Given the description of an element on the screen output the (x, y) to click on. 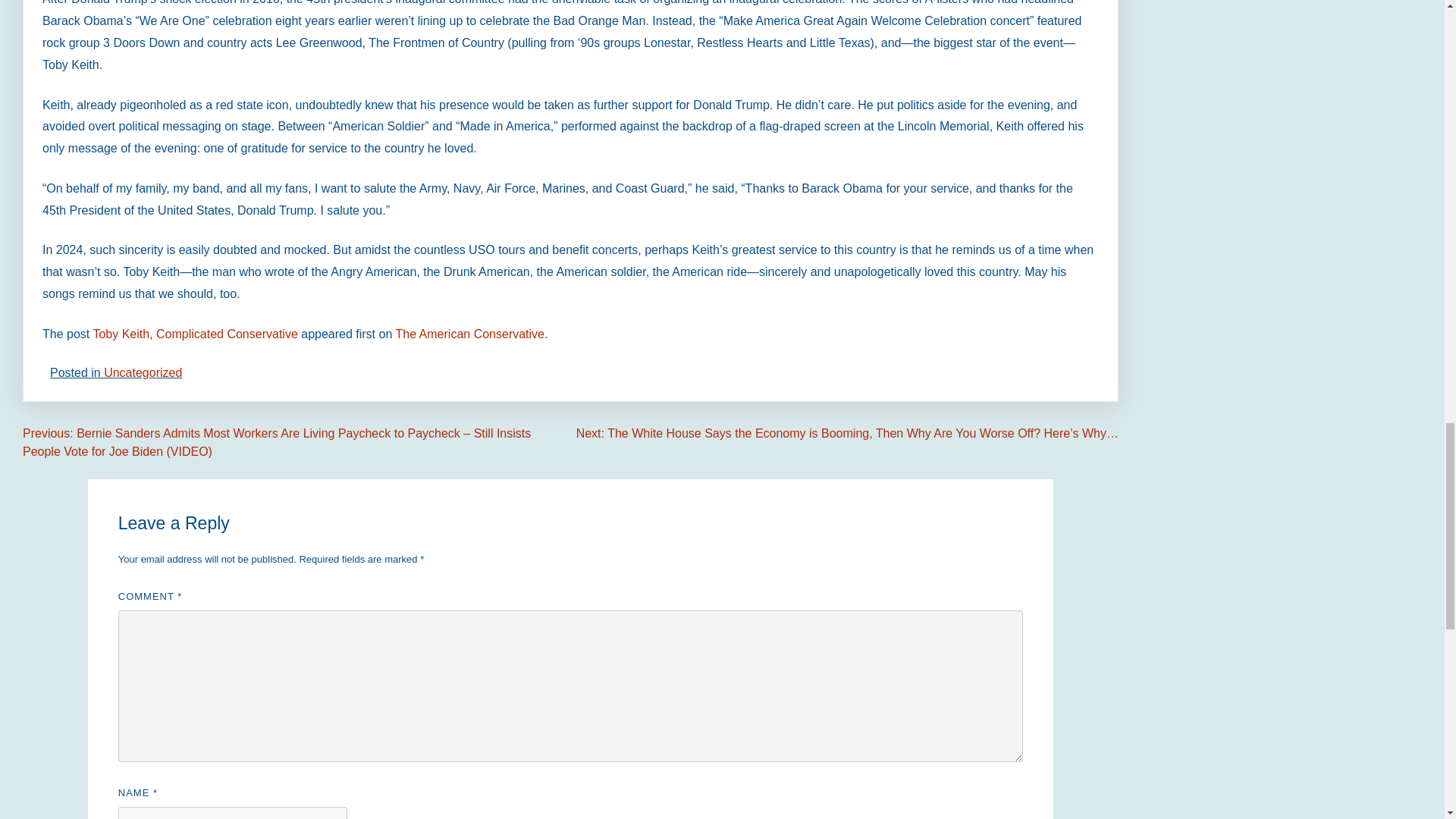
Uncategorized (142, 372)
The American Conservative (469, 333)
Toby Keith, Complicated Conservative (195, 333)
